Given the description of an element on the screen output the (x, y) to click on. 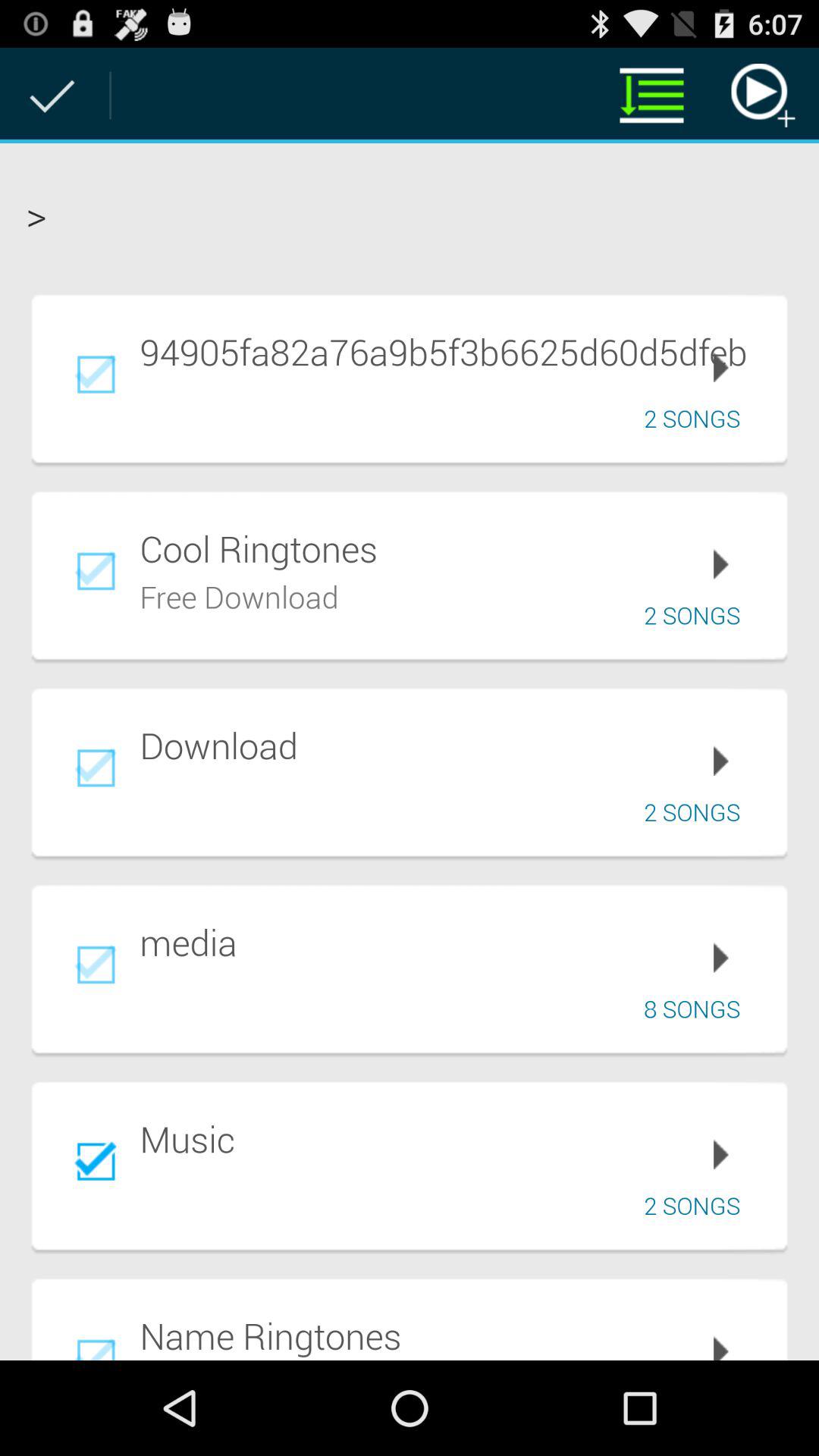
select the name ringtones (452, 1335)
